Given the description of an element on the screen output the (x, y) to click on. 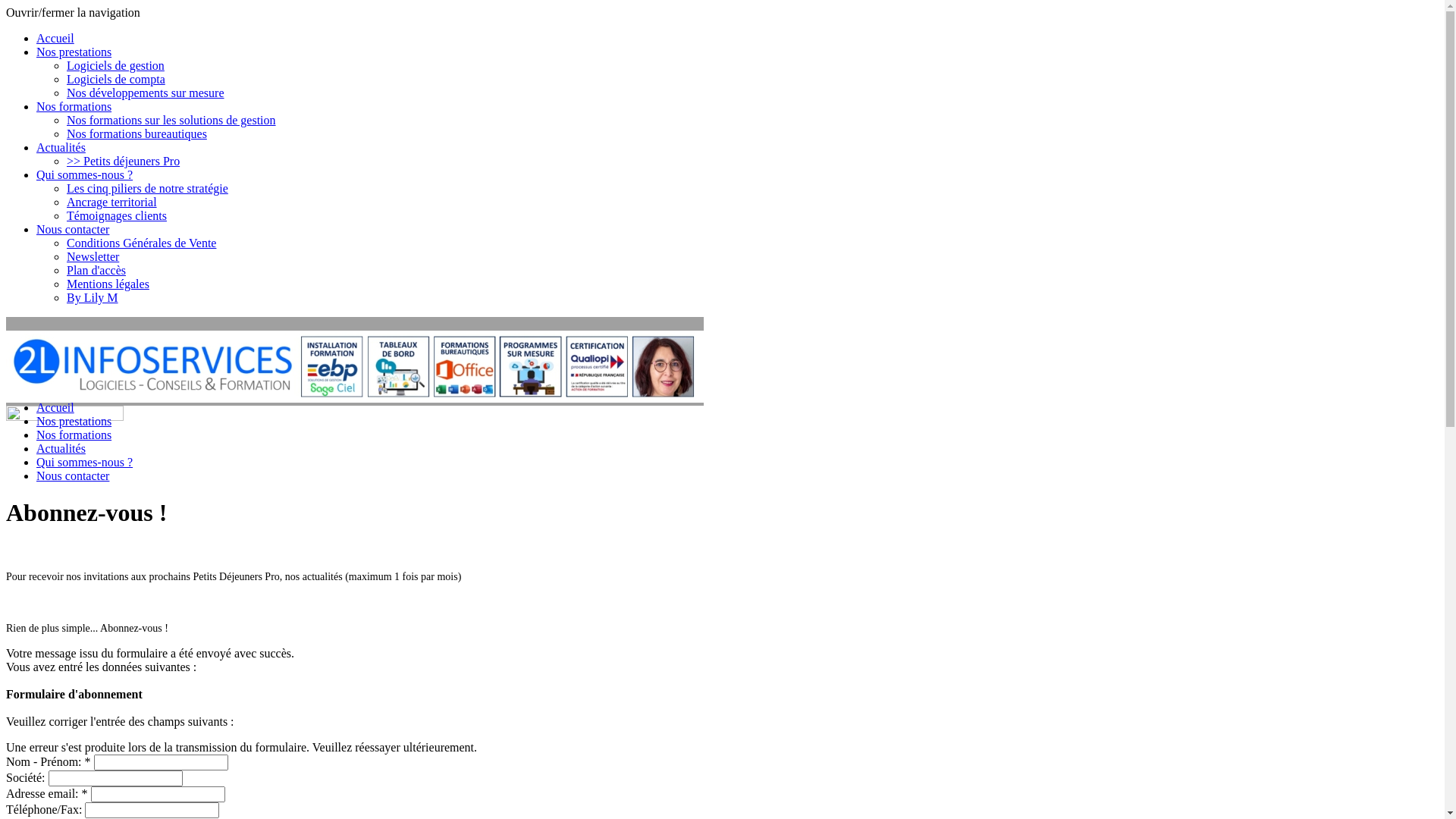
Logiciels de compta Element type: text (115, 78)
Nos formations Element type: text (73, 434)
Accueil Element type: text (55, 407)
Nos prestations Element type: text (73, 420)
Nos formations Element type: text (73, 106)
Ancrage territorial Element type: text (111, 201)
Qui sommes-nous ? Element type: text (84, 461)
Qui sommes-nous ? Element type: text (84, 174)
Newsletter Element type: text (92, 256)
By Lily M Element type: text (92, 297)
Logiciels de gestion Element type: text (115, 65)
Nos formations sur les solutions de gestion Element type: text (171, 119)
Nos formations bureautiques Element type: text (136, 133)
Nous contacter Element type: text (72, 228)
Accueil Element type: text (55, 37)
Nous contacter Element type: text (72, 475)
Nos prestations Element type: text (73, 51)
Ouvrir/fermer la navigation Element type: text (73, 12)
